Given the description of an element on the screen output the (x, y) to click on. 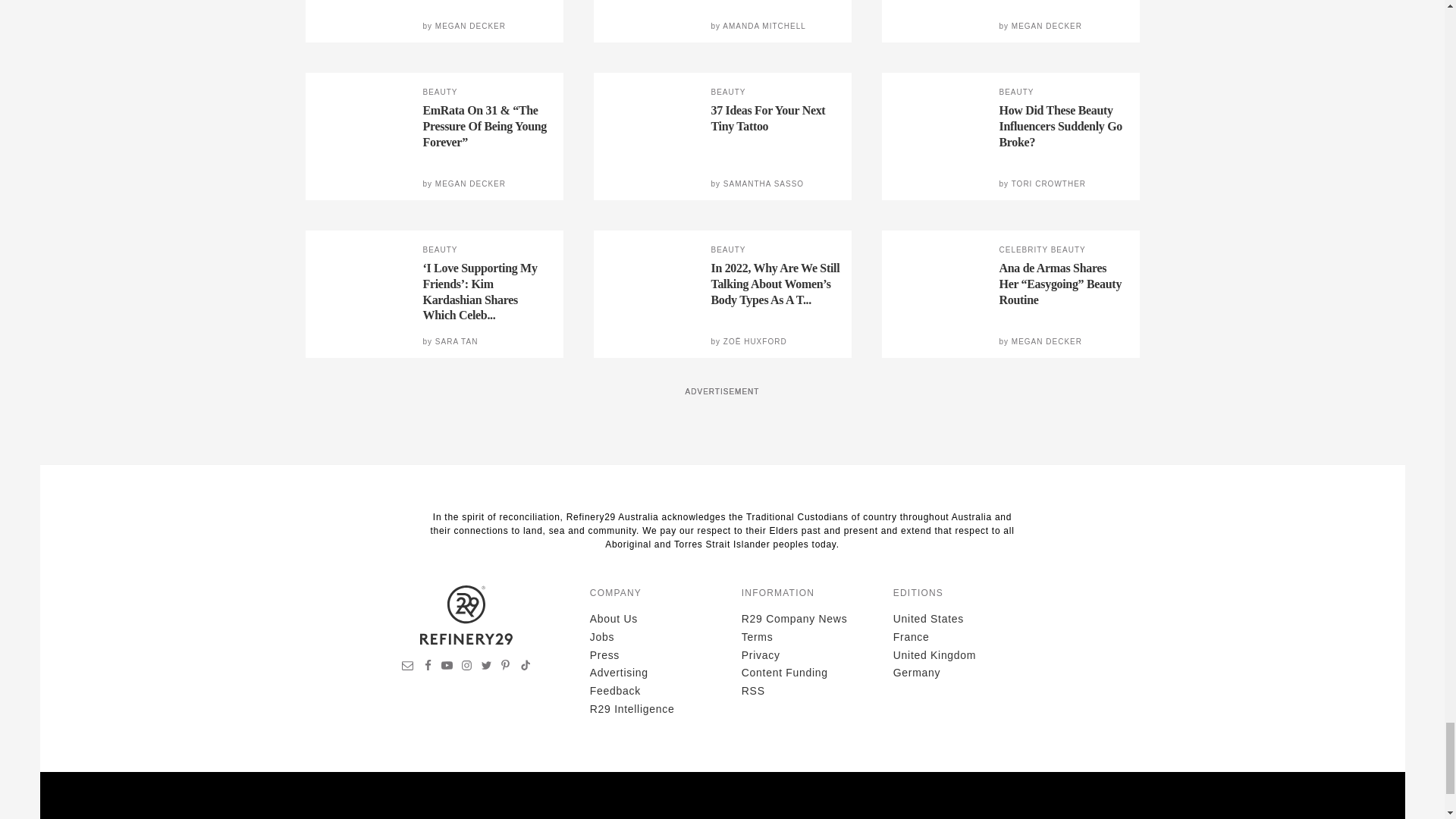
Visit Refinery29 on TikTok (525, 666)
Visit Refinery29 on YouTube (446, 666)
Sign up for newsletters (406, 666)
